Given the description of an element on the screen output the (x, y) to click on. 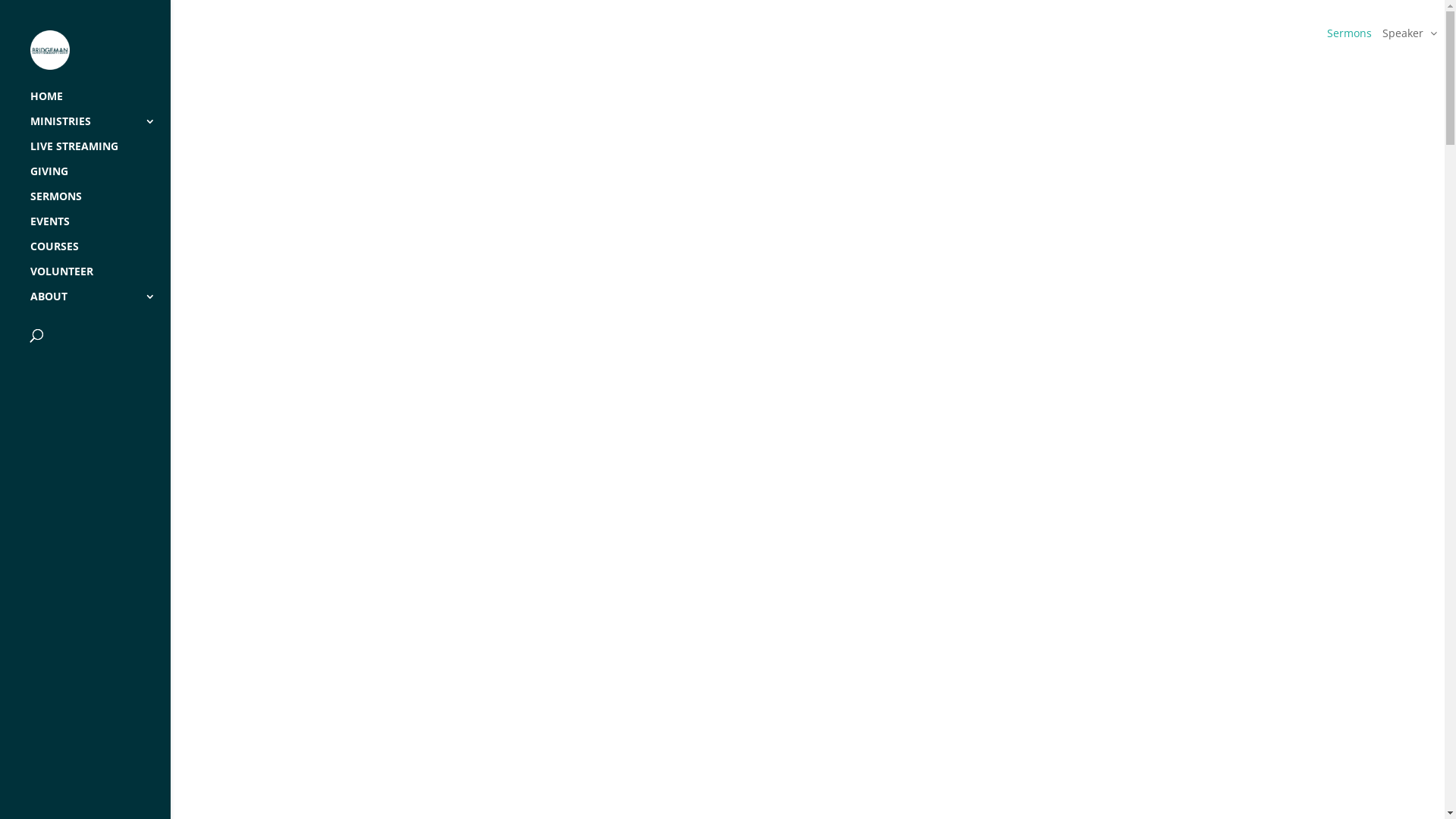
MINISTRIES Element type: text (100, 128)
Sermons Element type: text (1349, 32)
GIVING Element type: text (100, 178)
SERMONS Element type: text (100, 203)
HOME Element type: text (100, 103)
COURSES Element type: text (100, 253)
EVENTS Element type: text (100, 228)
LIVE STREAMING Element type: text (100, 153)
VOLUNTEER Element type: text (100, 278)
ABOUT Element type: text (100, 303)
